Given the description of an element on the screen output the (x, y) to click on. 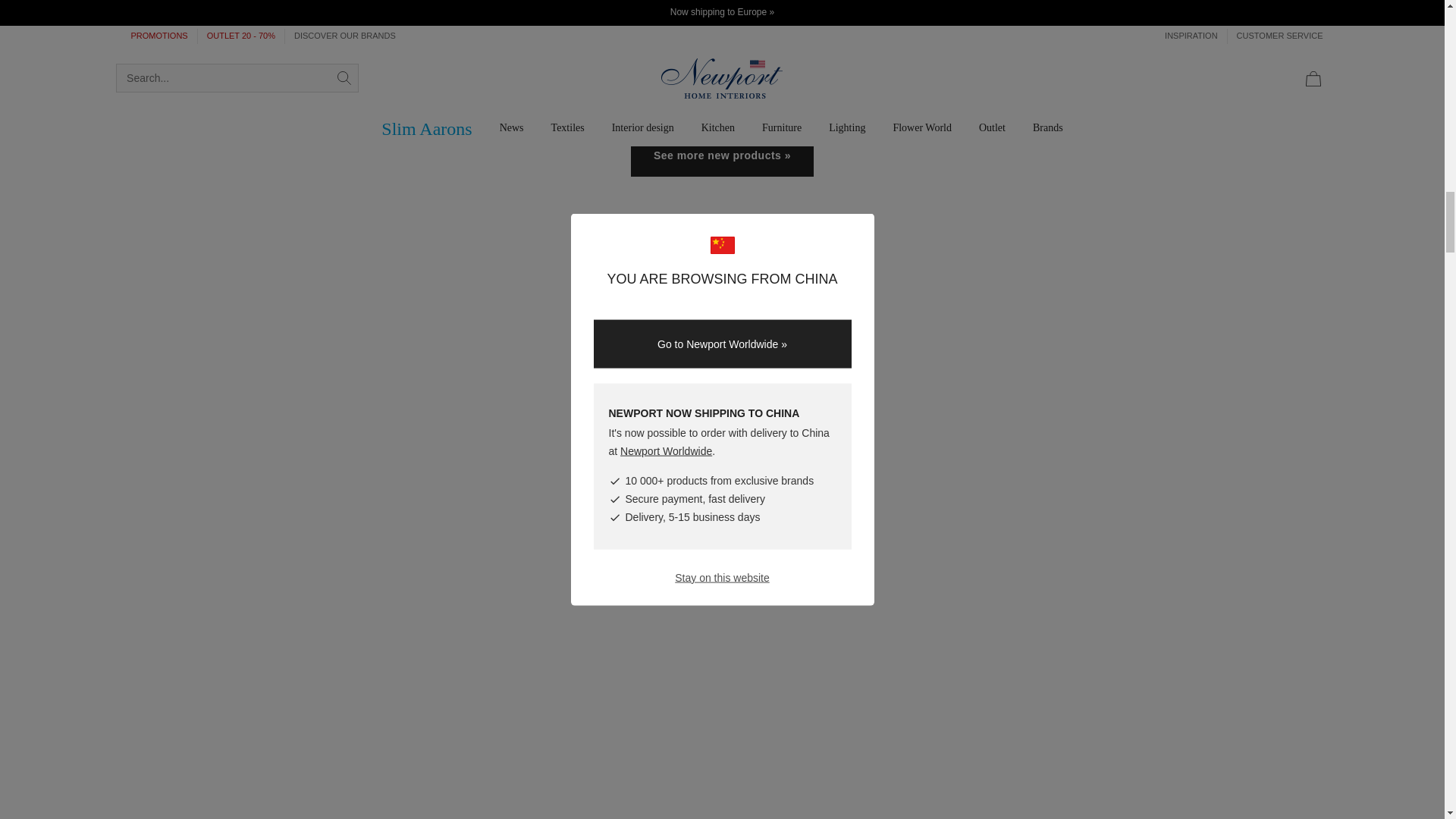
Horses From Saudi Arabia (573, 39)
Al'Madinah: The City of the Prophet (1167, 39)
Falcons From Saudi Arabia (274, 39)
